Given the description of an element on the screen output the (x, y) to click on. 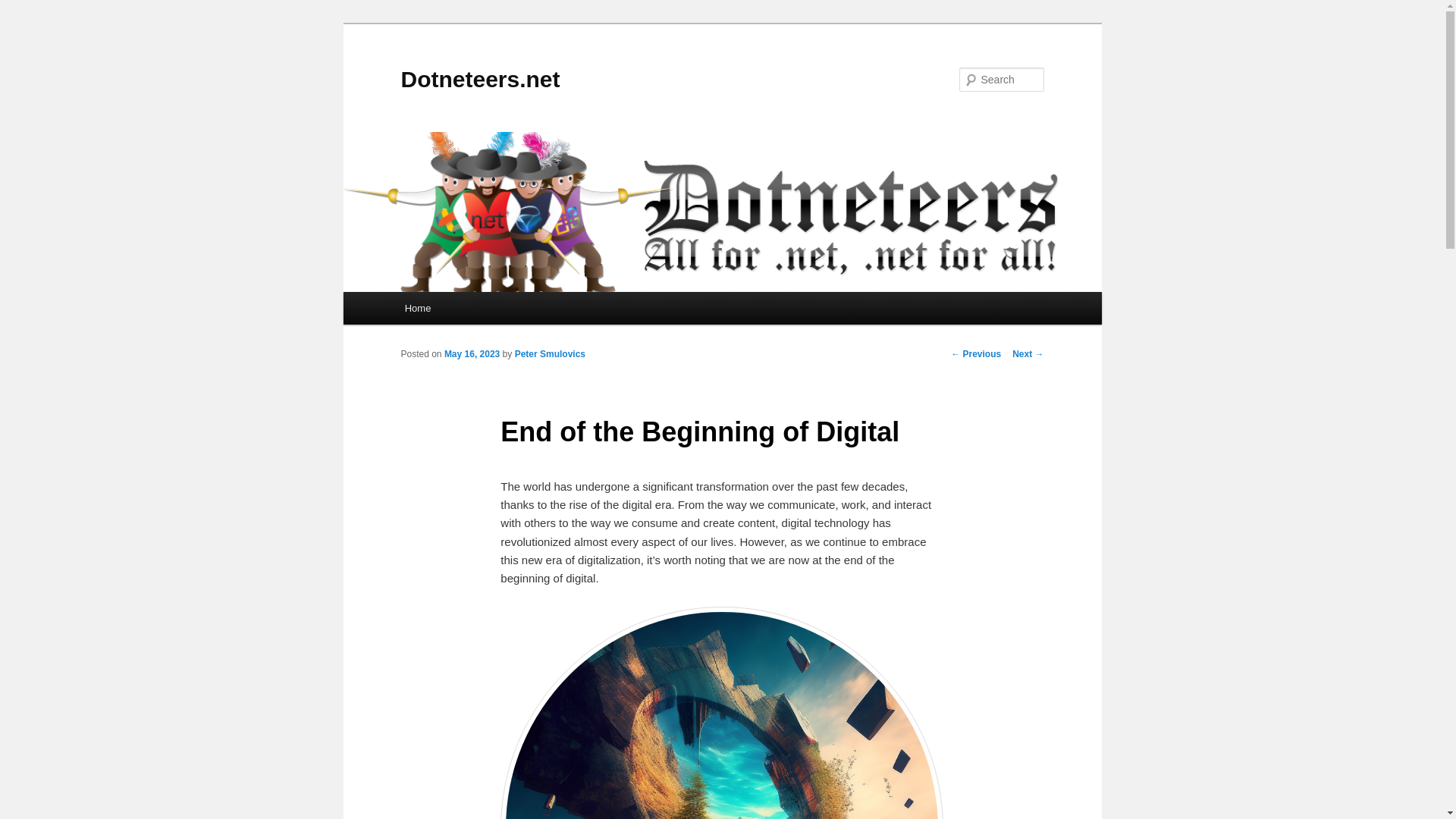
View all posts by Peter Smulovics (550, 353)
Peter Smulovics (550, 353)
Dotneteers.net (479, 78)
10:00 am (471, 353)
May 16, 2023 (471, 353)
Search (24, 8)
Home (417, 307)
